Given the description of an element on the screen output the (x, y) to click on. 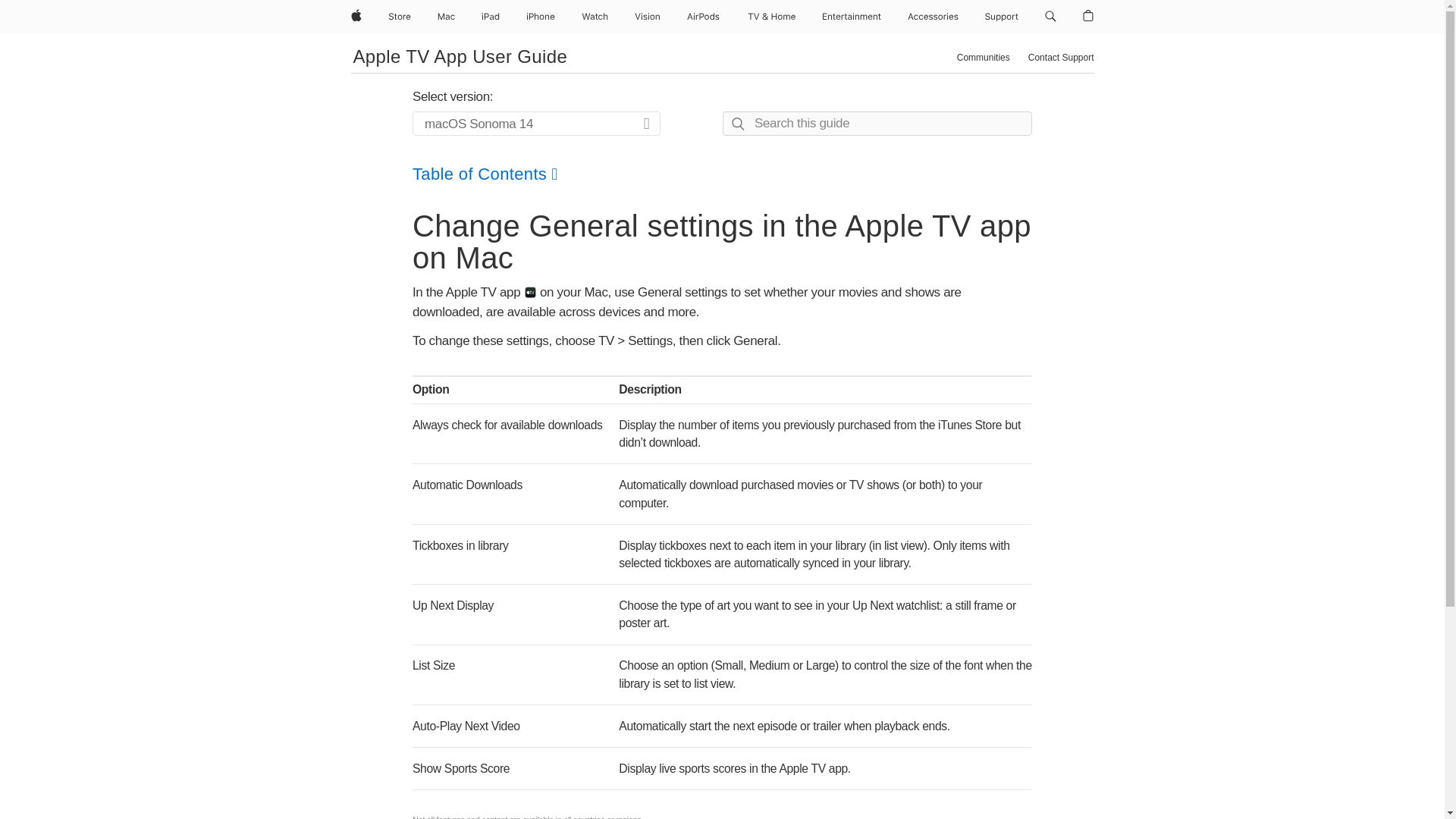
Apple (354, 16)
Store (398, 16)
Mac (445, 16)
